Given the description of an element on the screen output the (x, y) to click on. 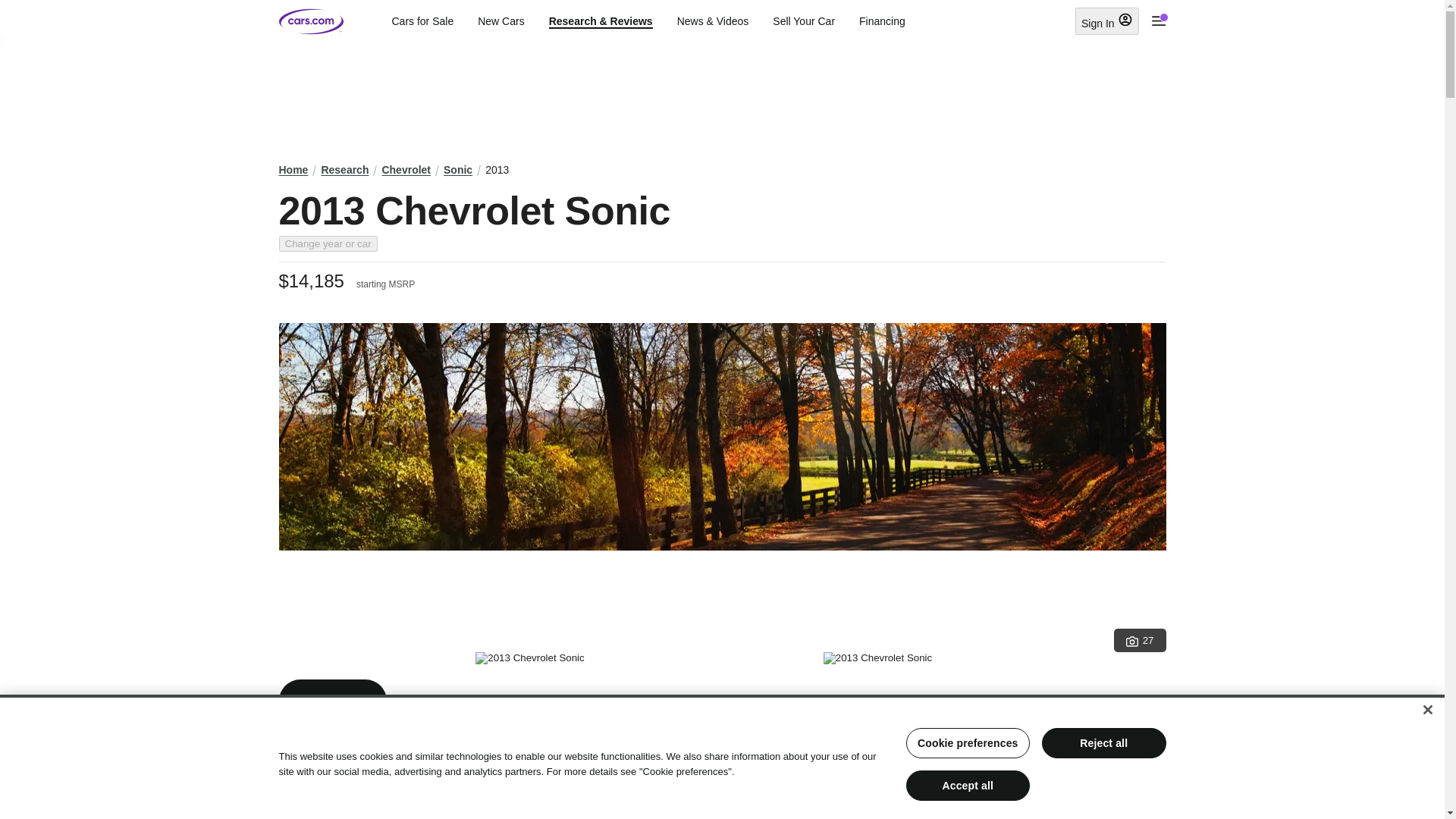
New Cars (500, 21)
Chevrolet (405, 170)
Cars for Sale (421, 21)
Shop Now (333, 700)
Sell Your Car (803, 21)
Sonic (457, 170)
Financing (882, 21)
Home (293, 170)
Skip to main content (12, 11)
Research (344, 170)
